Given the description of an element on the screen output the (x, y) to click on. 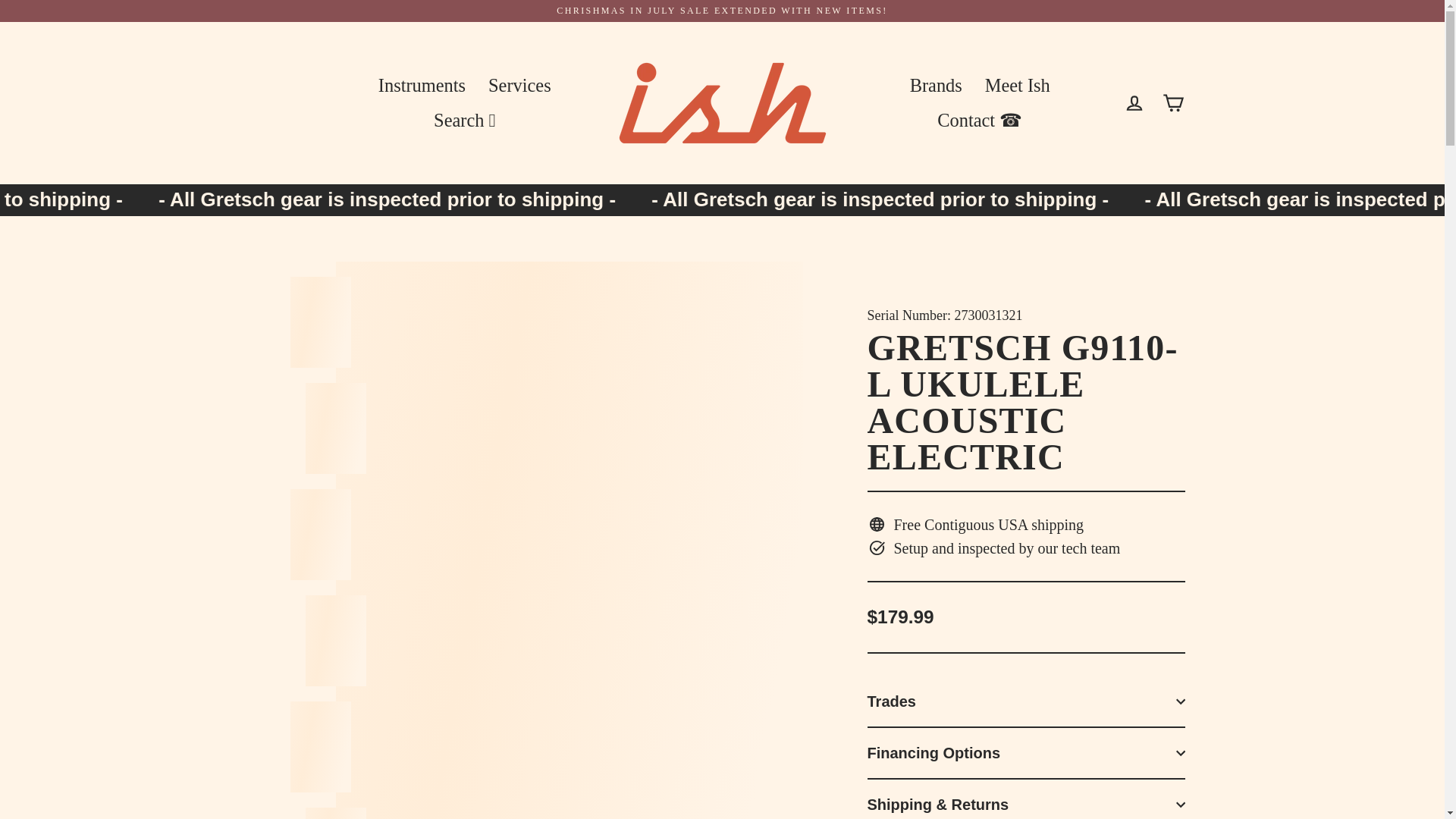
Instruments (421, 85)
